Given the description of an element on the screen output the (x, y) to click on. 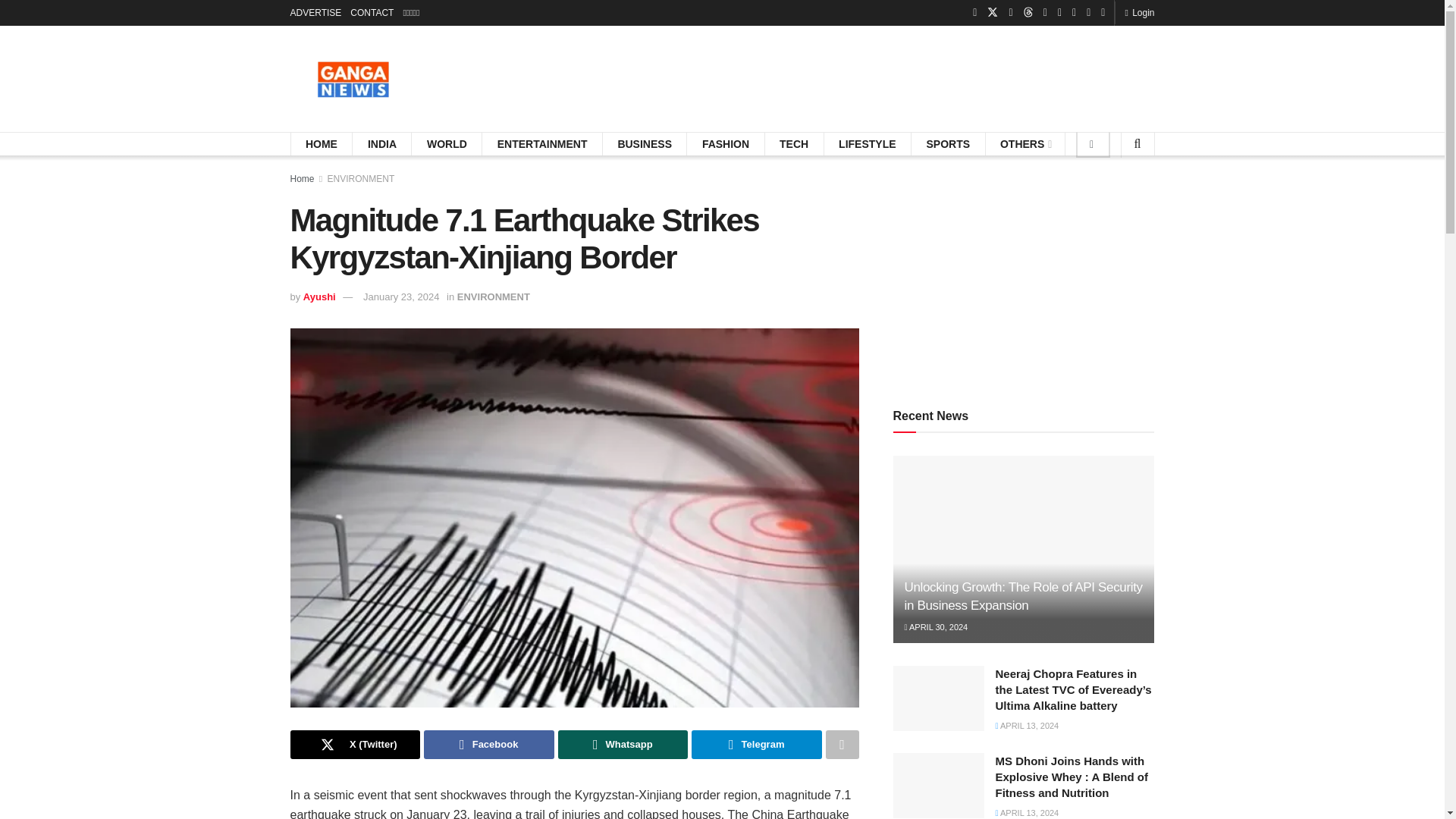
ADVERTISE (314, 12)
INDIA (382, 143)
SPORTS (947, 143)
OTHERS (1024, 143)
BUSINESS (644, 143)
WORLD (446, 143)
HOME (321, 143)
ENTERTAINMENT (542, 143)
FASHION (725, 143)
LIFESTYLE (866, 143)
